Given the description of an element on the screen output the (x, y) to click on. 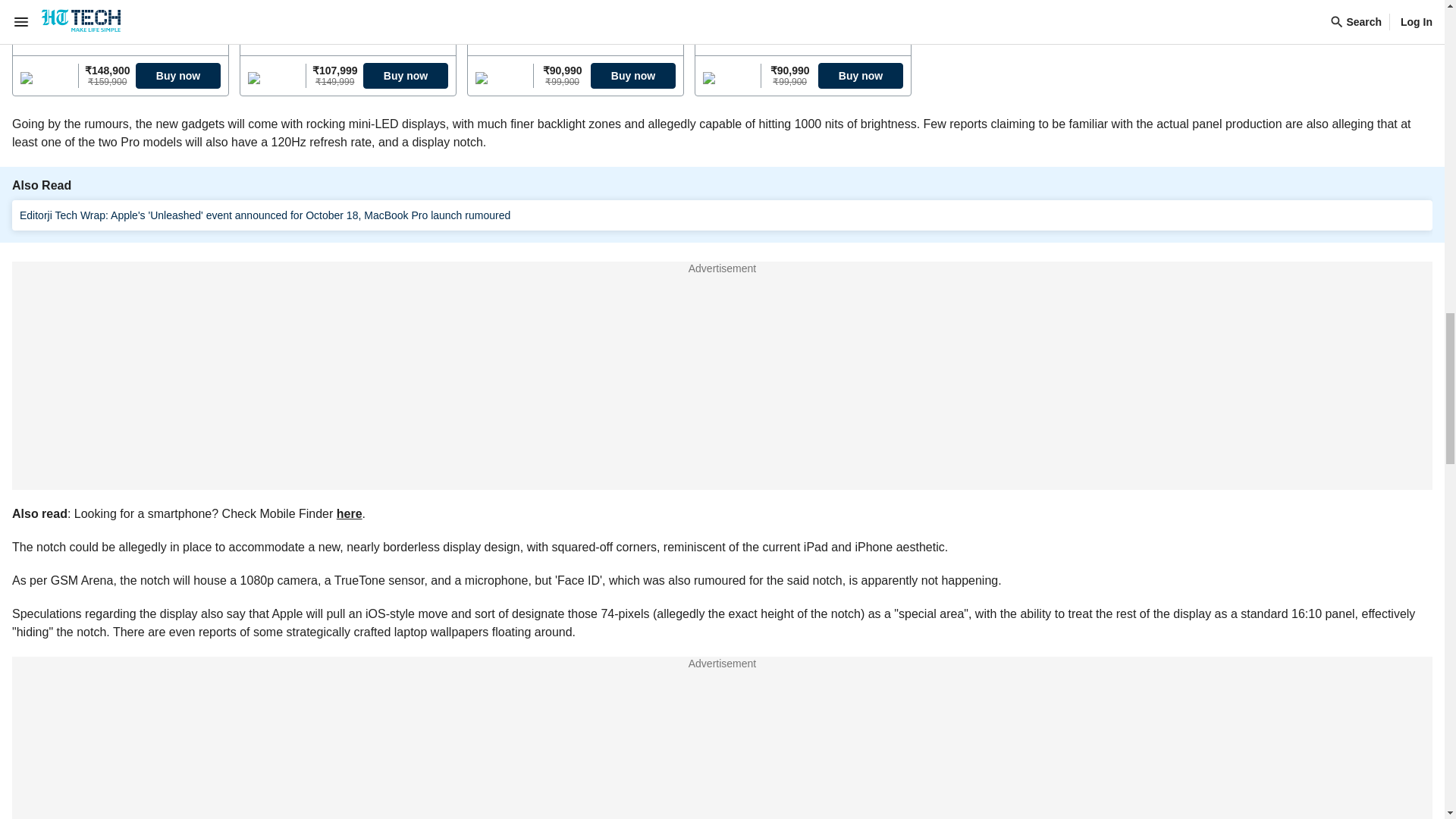
Mobile Finder (722, 715)
Get to Know more about from India and around the world. (722, 715)
Get to Know more about from India and around the world. (722, 798)
Get to Know more about from India and around the world. (722, 756)
Mobile Recommender (722, 756)
Mobile News (722, 631)
